Given the description of an element on the screen output the (x, y) to click on. 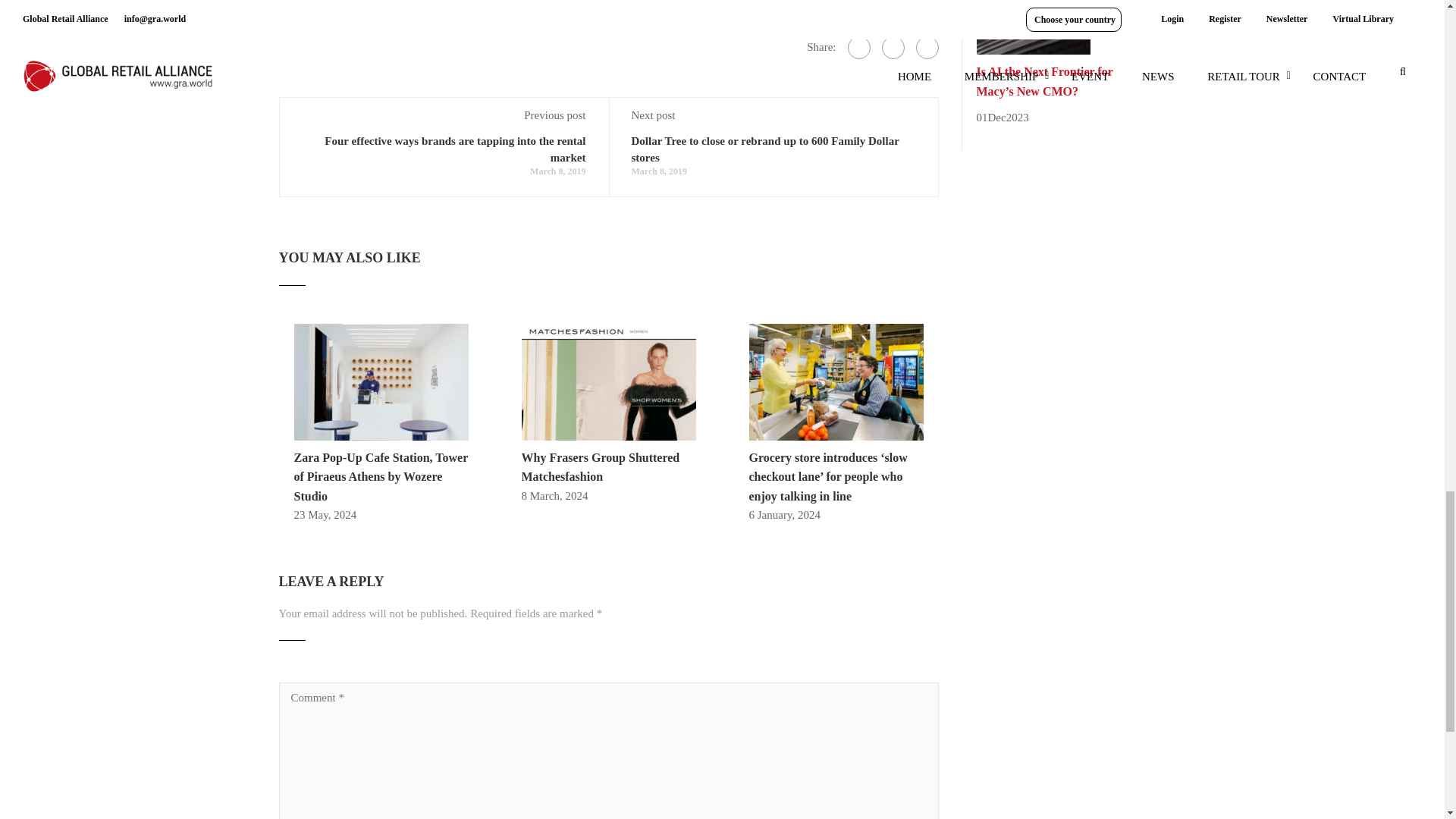
Twitter (892, 47)
Facebook (858, 47)
zara-popup-cafe-athens (381, 381)
Why Frasers Group Shuttered Matchesfashion (600, 467)
matchesfashion (608, 381)
Senza-titolo-1 (836, 381)
